Given the description of an element on the screen output the (x, y) to click on. 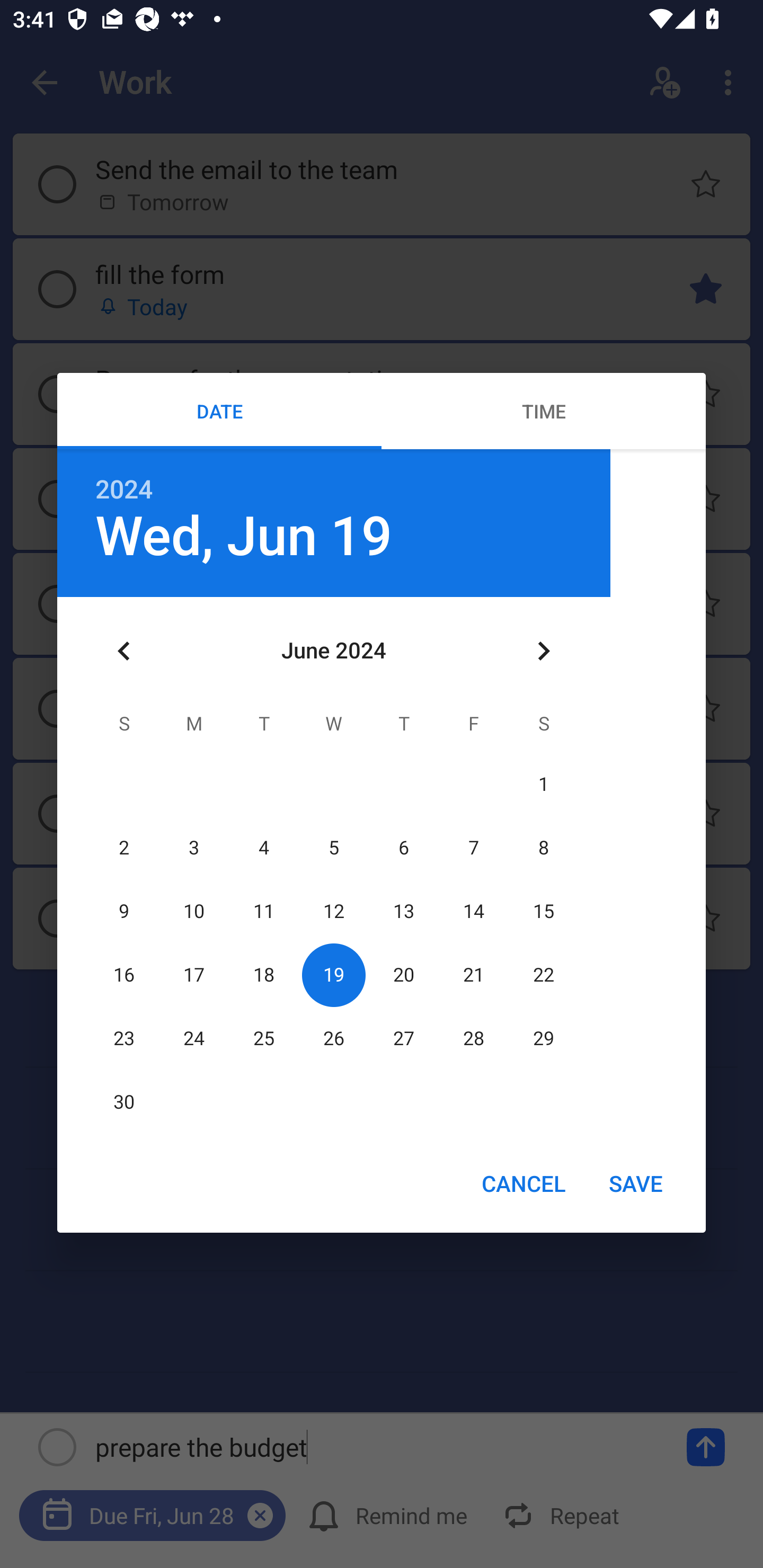
27 27 June 2024 (403, 1038)
